Given the description of an element on the screen output the (x, y) to click on. 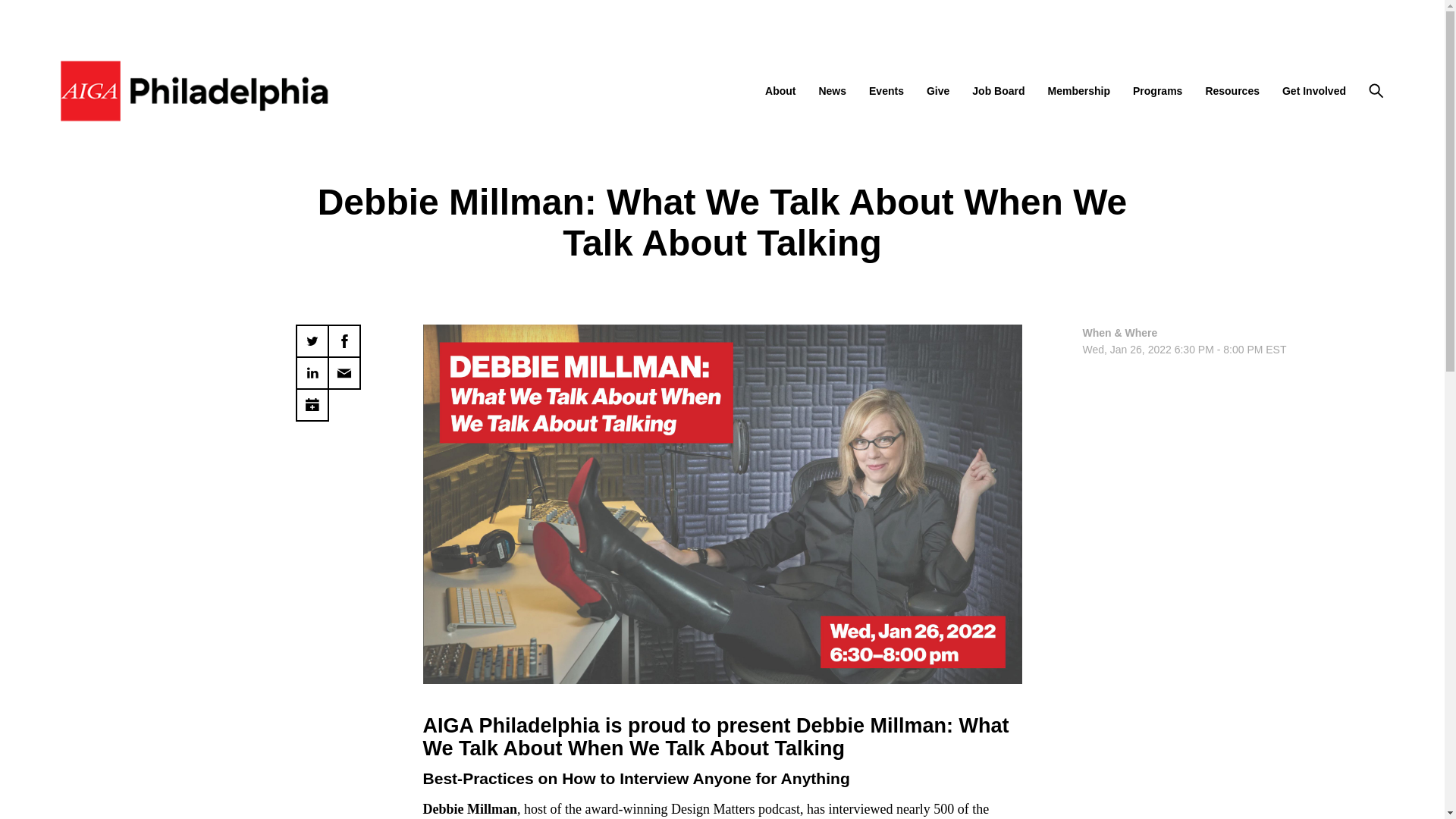
Resources (1232, 91)
Give (937, 91)
News (831, 91)
Job Board (998, 91)
About (779, 91)
Events (886, 91)
Get Involved (1313, 91)
Programs (1157, 91)
Membership (1078, 91)
